Given the description of an element on the screen output the (x, y) to click on. 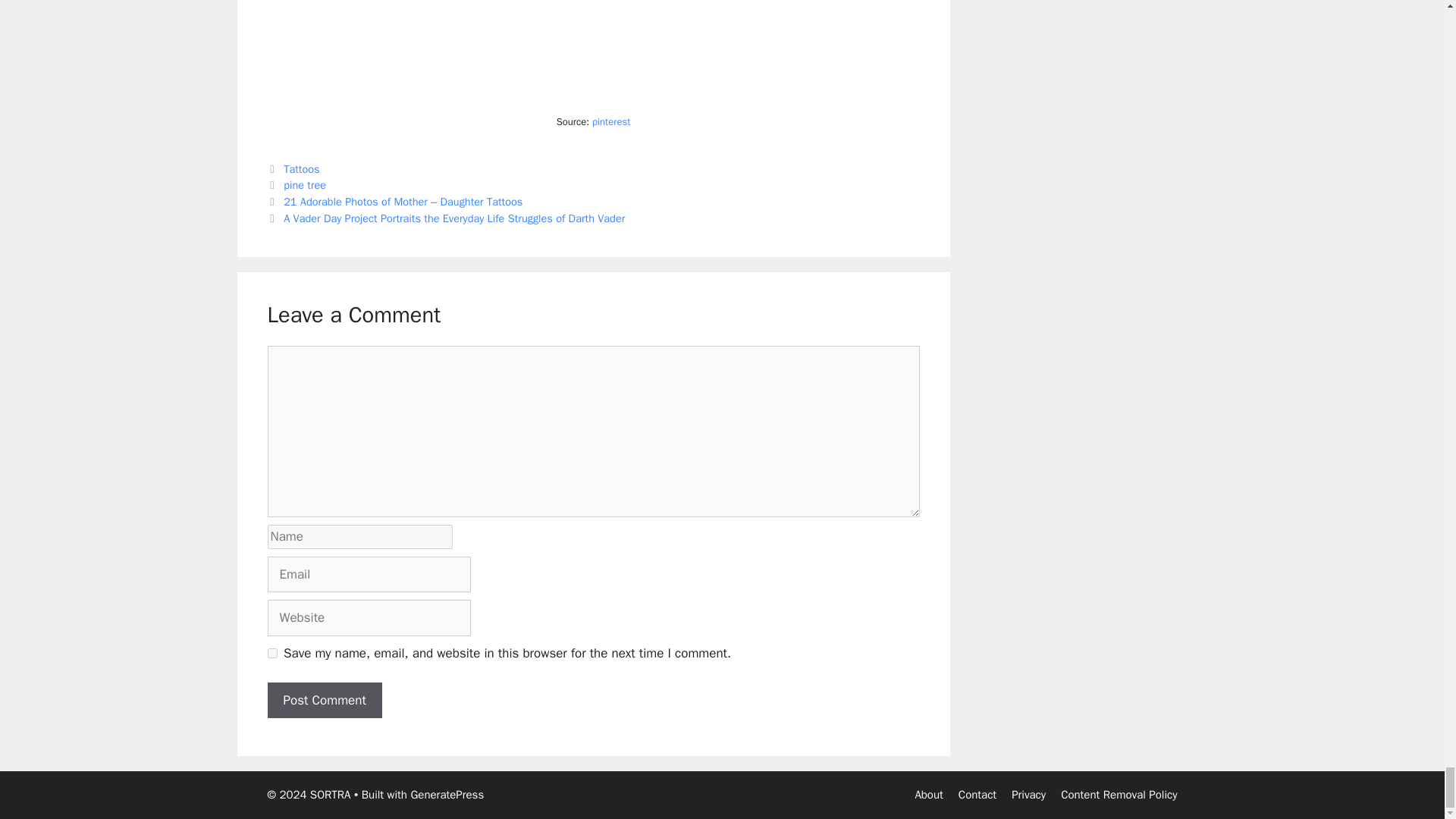
Tattoos (300, 169)
yes (271, 653)
About (928, 794)
Content Removal Policy (1118, 794)
Post Comment (323, 700)
pinterest (611, 121)
Contact (976, 794)
Post Comment (323, 700)
pine tree (304, 184)
Privacy (1028, 794)
